Given the description of an element on the screen output the (x, y) to click on. 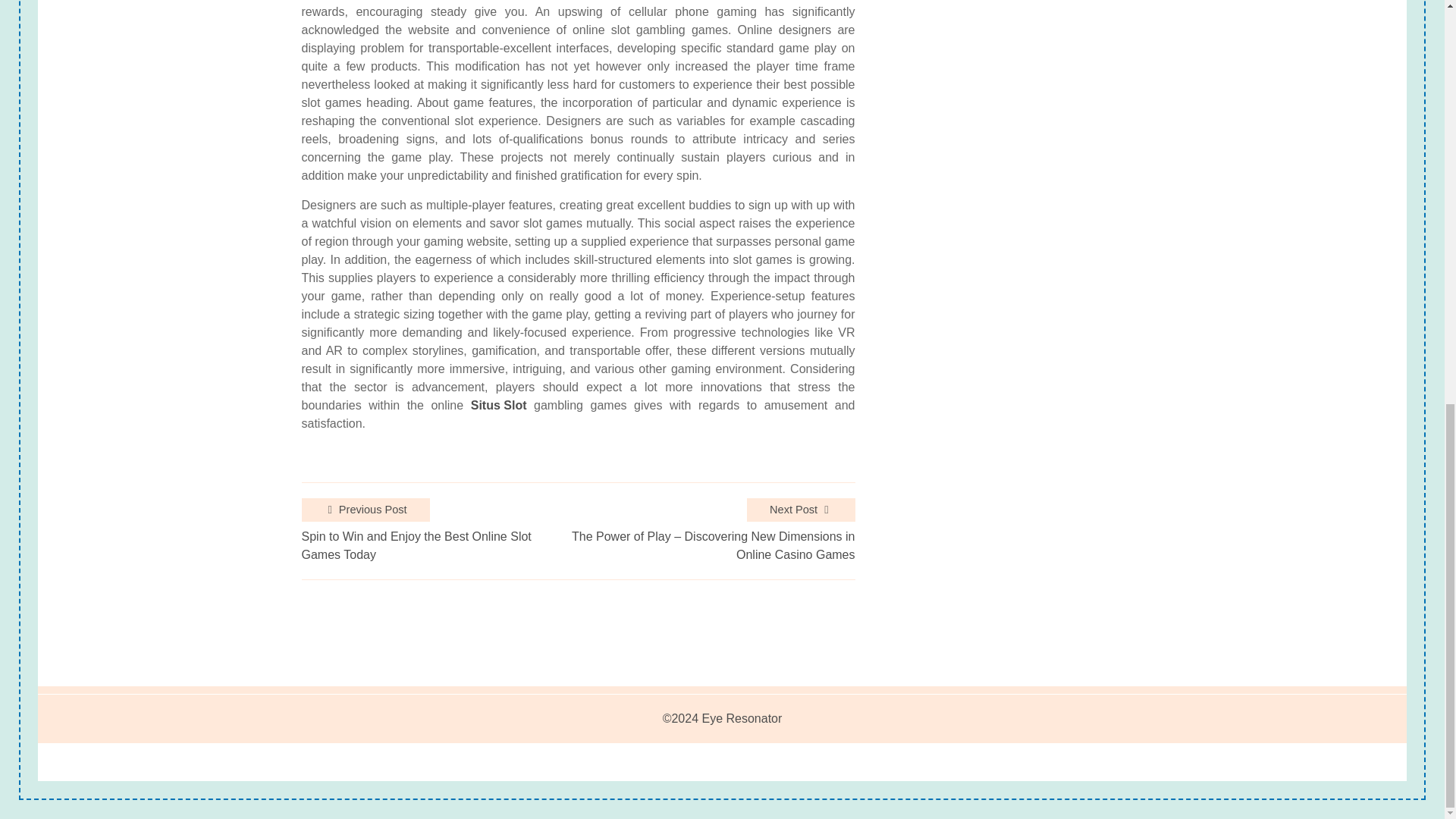
Previous Post (365, 509)
Situs Slot (498, 405)
Next Post (800, 509)
Spin to Win and Enjoy the Best Online Slot Games Today (420, 545)
